Given the description of an element on the screen output the (x, y) to click on. 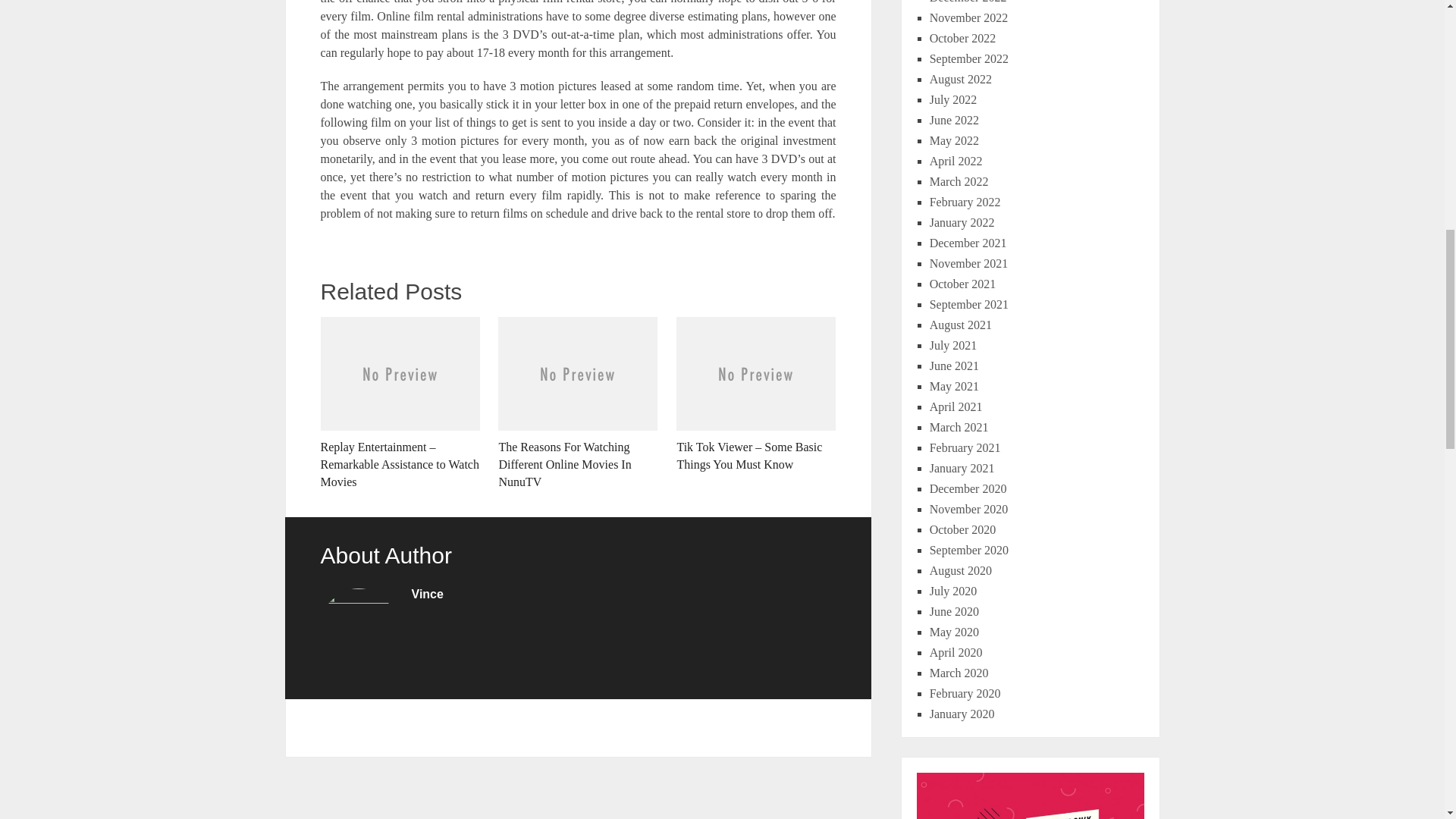
The Reasons For Watching Different Online Movies In NunuTV (577, 403)
The Reasons For Watching Different Online Movies In NunuTV (577, 403)
